Given the description of an element on the screen output the (x, y) to click on. 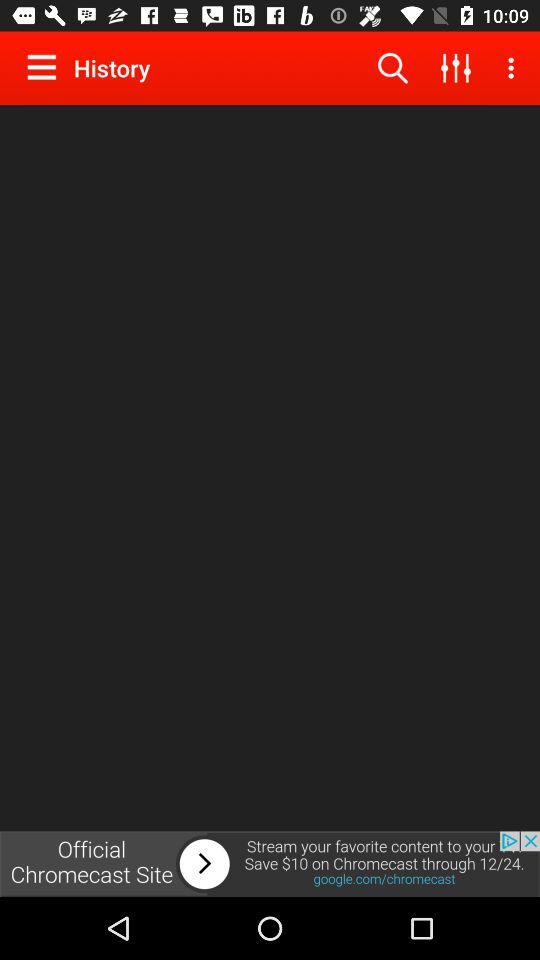
the file of the history (46, 67)
